Given the description of an element on the screen output the (x, y) to click on. 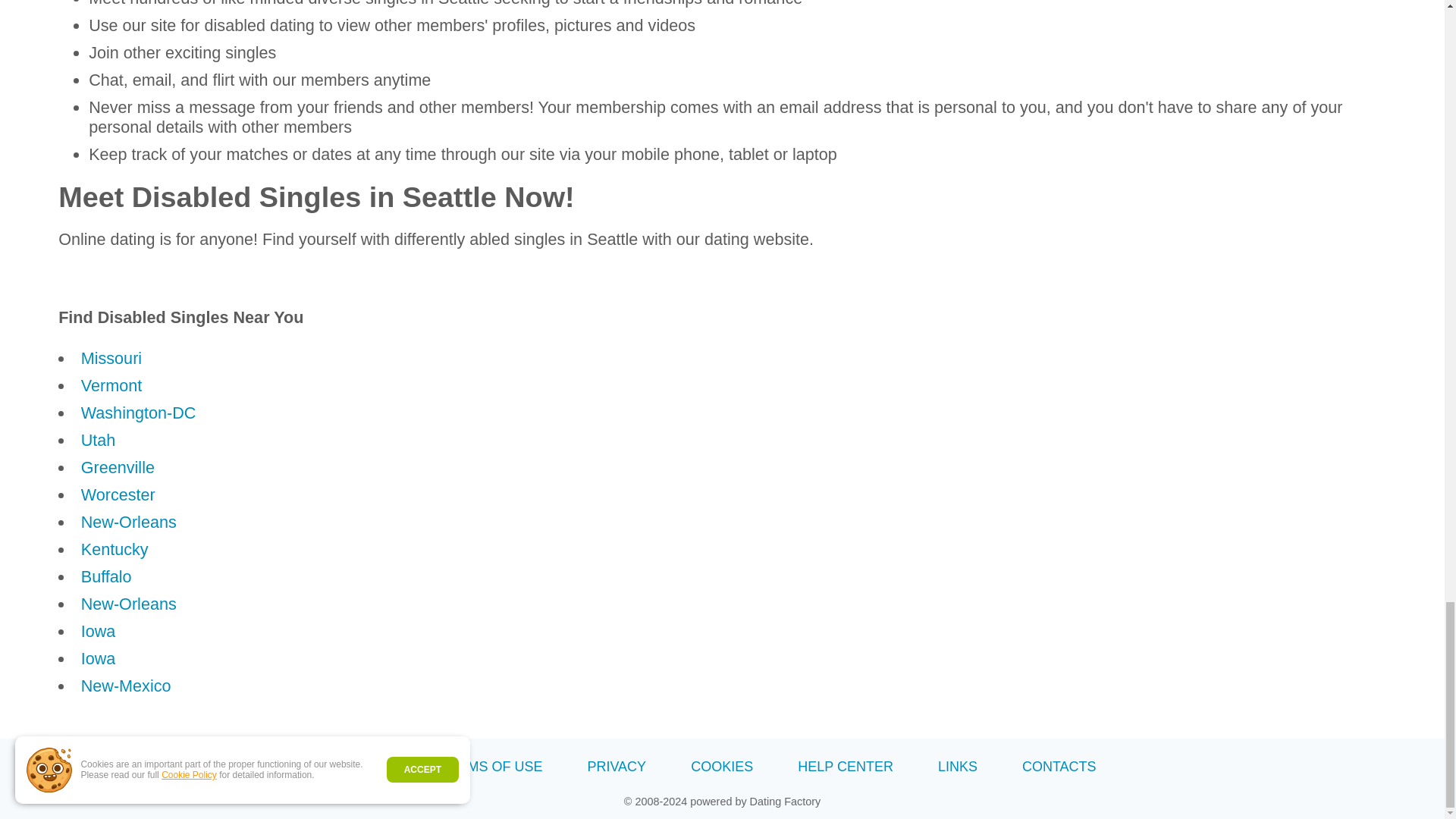
Washington-DC (138, 412)
Vermont (111, 384)
Utah (98, 439)
Missouri (111, 357)
Greenville (117, 466)
